Given the description of an element on the screen output the (x, y) to click on. 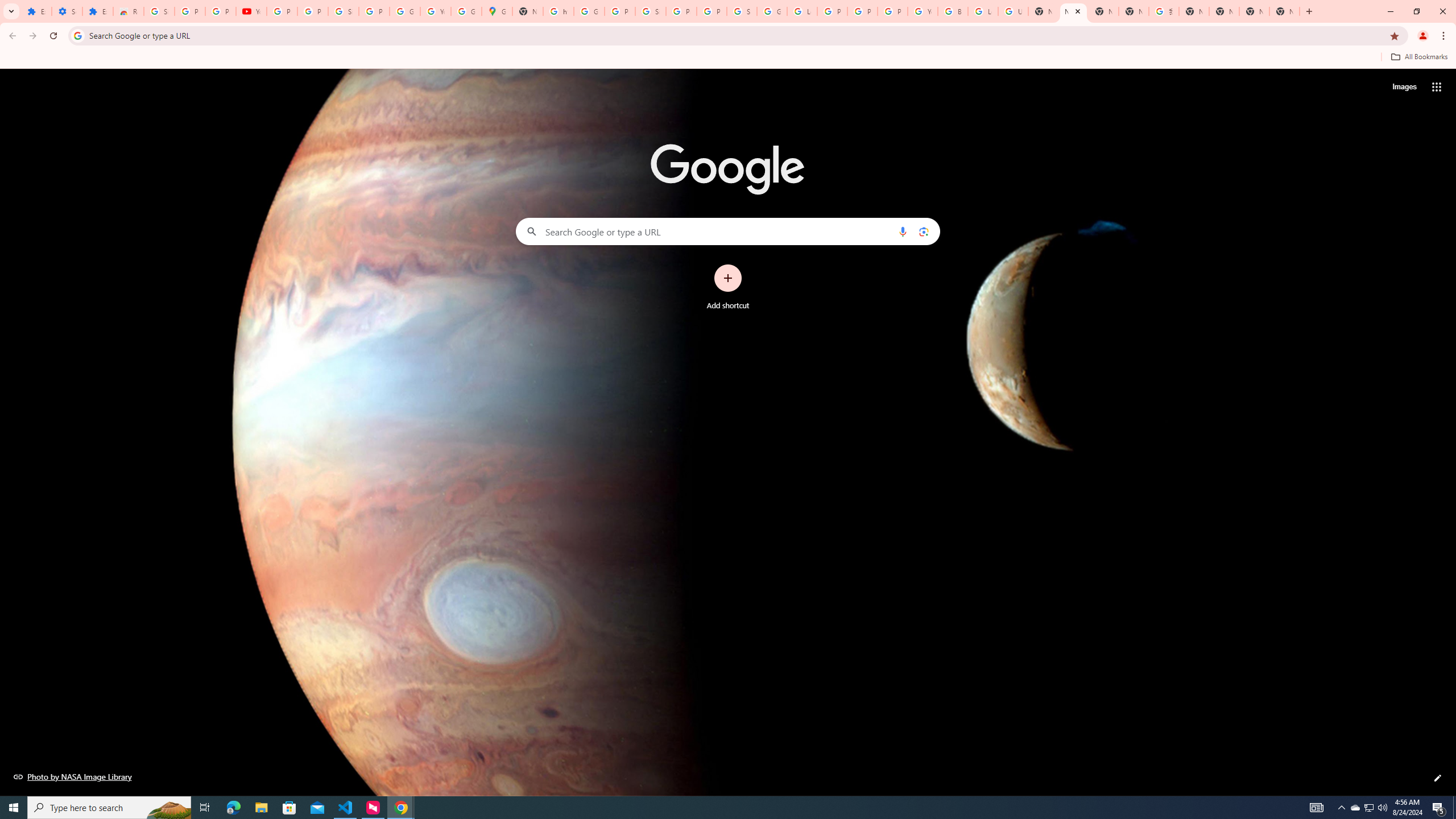
Settings (66, 11)
Google Maps (496, 11)
YouTube (922, 11)
Sign in - Google Accounts (158, 11)
You (1422, 35)
Google apps (1436, 86)
Sign in - Google Accounts (343, 11)
https://scholar.google.com/ (558, 11)
